Given the description of an element on the screen output the (x, y) to click on. 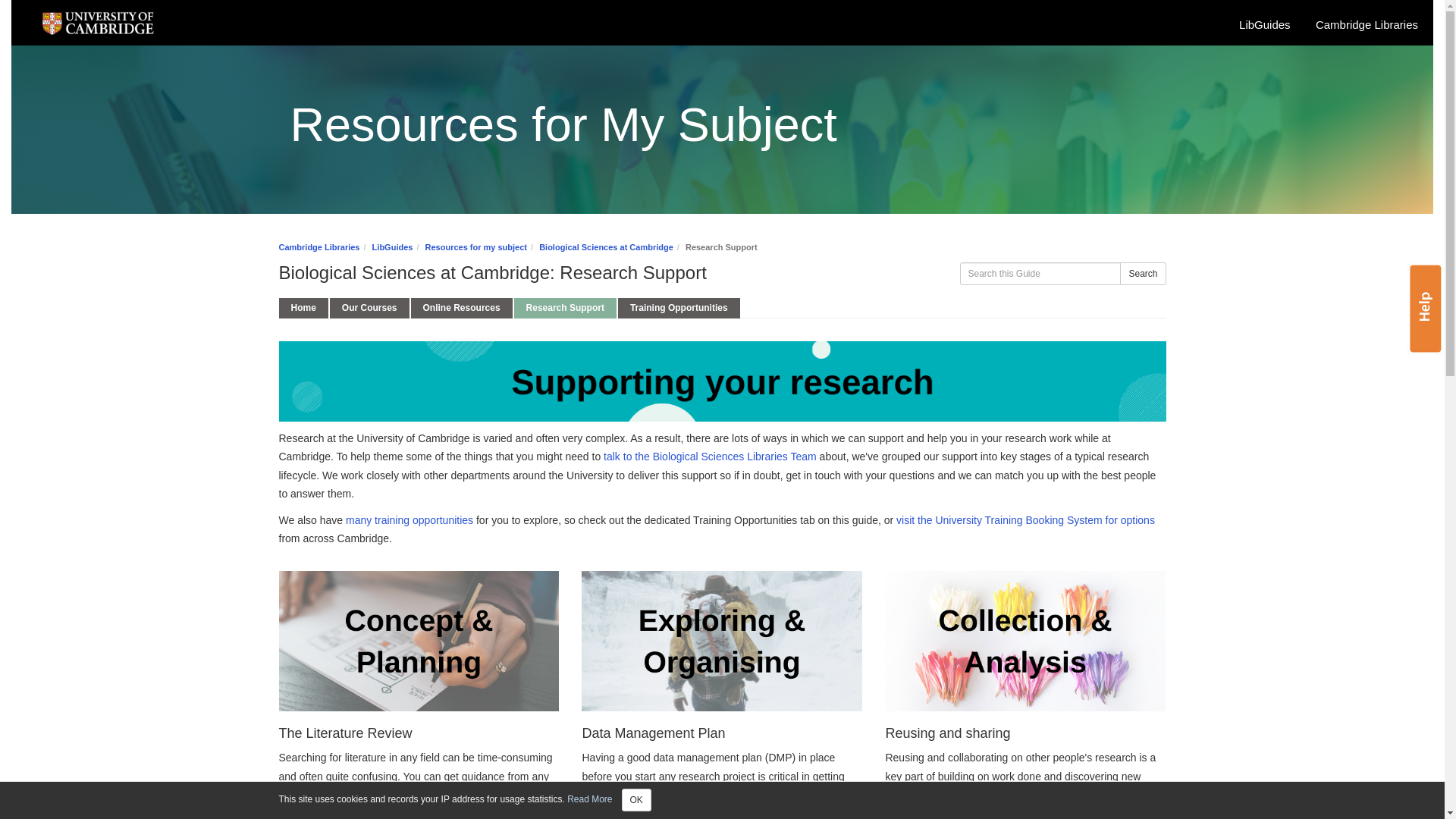
Cambridge Libraries (319, 246)
Home (304, 308)
talk to the Biological Sciences Libraries Team (710, 456)
Read More (589, 798)
visit the University Training Booking System for options (1025, 520)
OK (635, 799)
Research Support (564, 308)
LibGuides (392, 246)
Biological Sciences at Cambridge (605, 246)
Search (1142, 273)
Our Courses (369, 308)
LibGuides (1268, 24)
Training Opportunities (678, 308)
Cambridge Libraries (1369, 24)
Online Resources (461, 308)
